Given the description of an element on the screen output the (x, y) to click on. 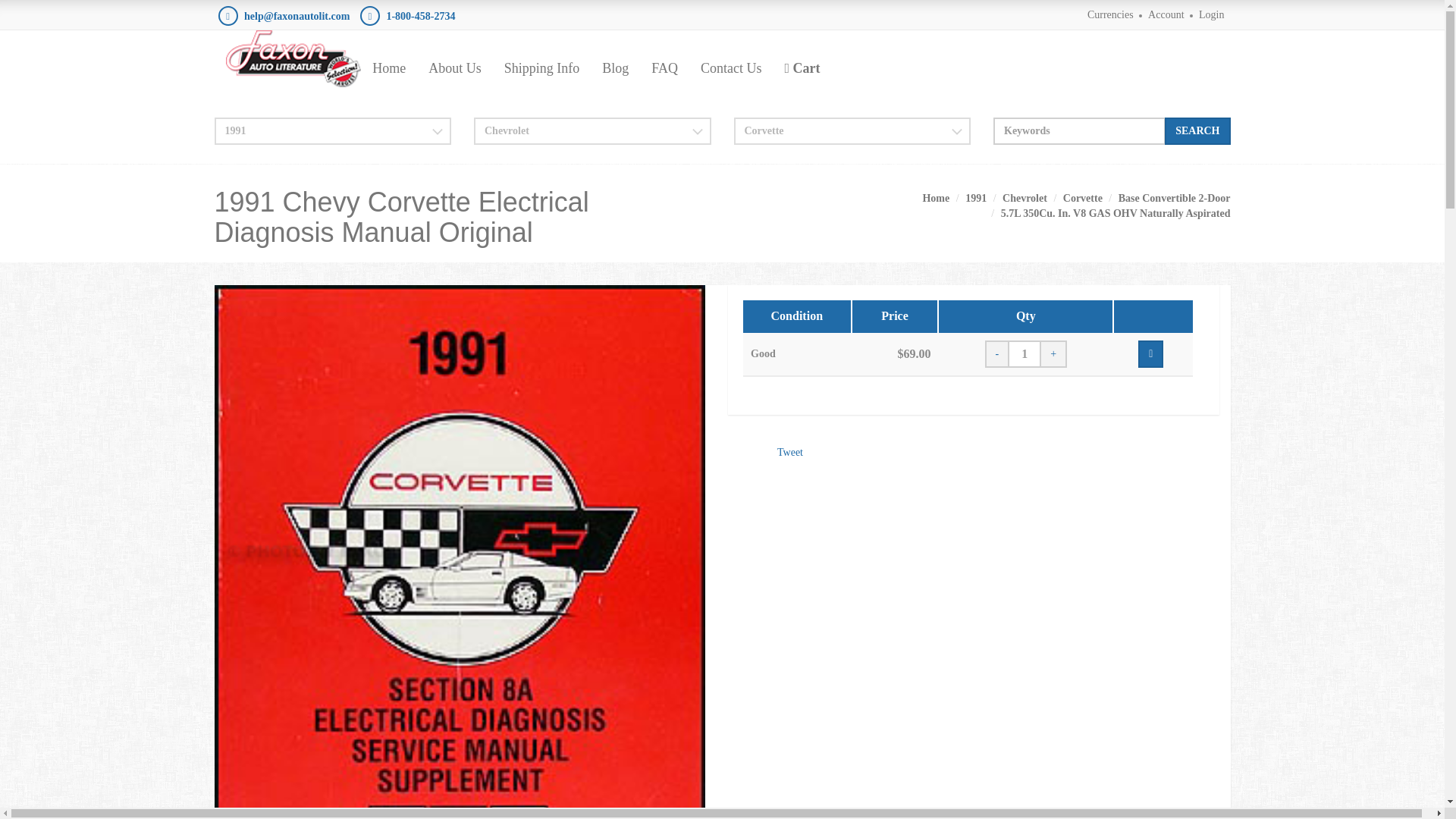
About Us (454, 67)
1 (1024, 353)
FAQ (664, 67)
- (996, 353)
Chevrolet (1024, 197)
Shipping Info (542, 67)
Login (1211, 14)
Currencies (1110, 14)
Blog (615, 67)
Corvette (1082, 197)
Cart (802, 67)
SEARCH (1197, 130)
Account (1165, 14)
Home (935, 197)
1991 (976, 197)
